Given the description of an element on the screen output the (x, y) to click on. 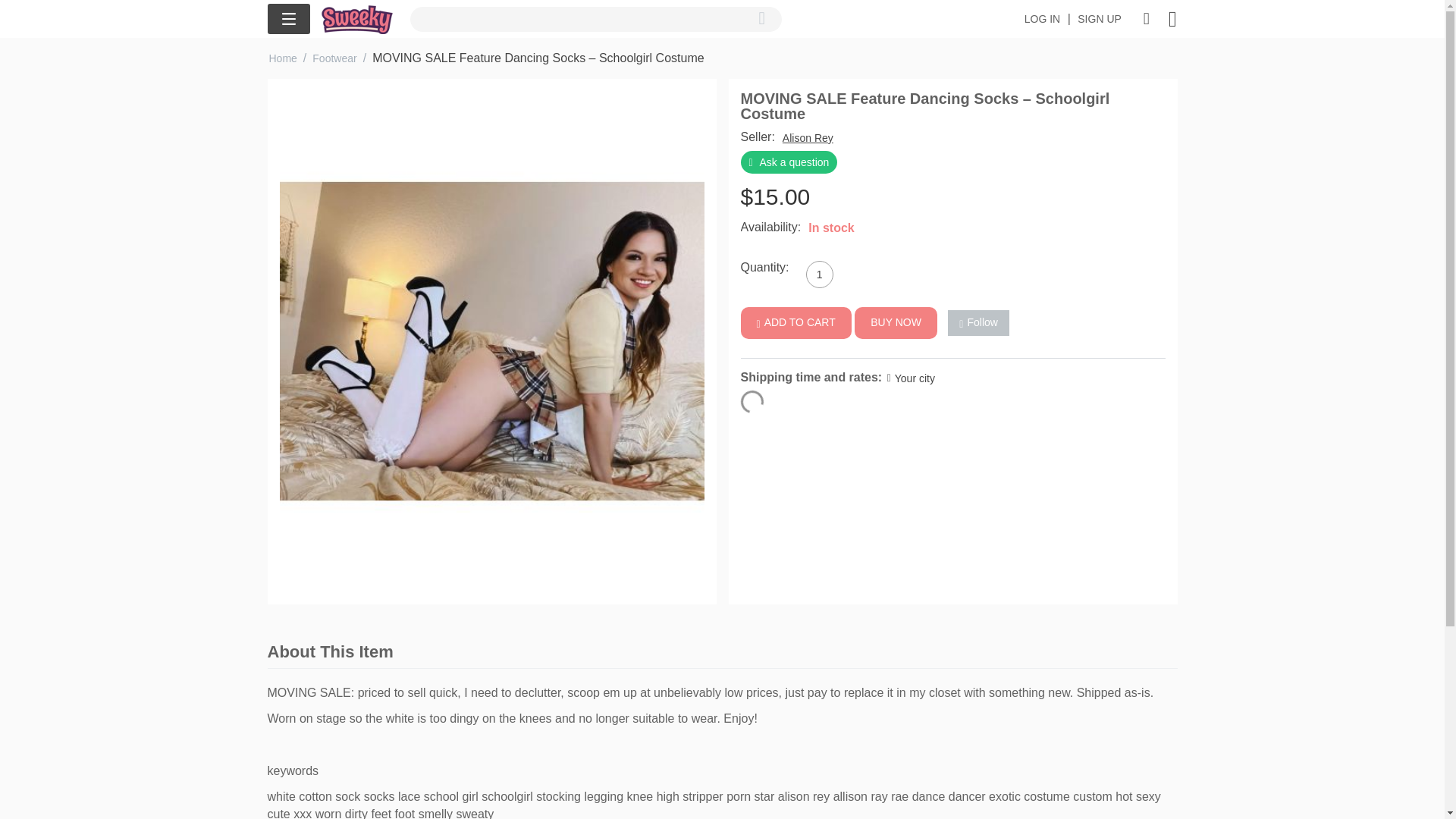
BUY NOW (895, 323)
Sweeky Menu (287, 19)
Alison Rey (807, 137)
Ask a question (788, 161)
Footwear (334, 58)
1 (819, 274)
Search items (594, 18)
Follow (978, 322)
Your city (910, 378)
ADD TO CART (794, 323)
